Given the description of an element on the screen output the (x, y) to click on. 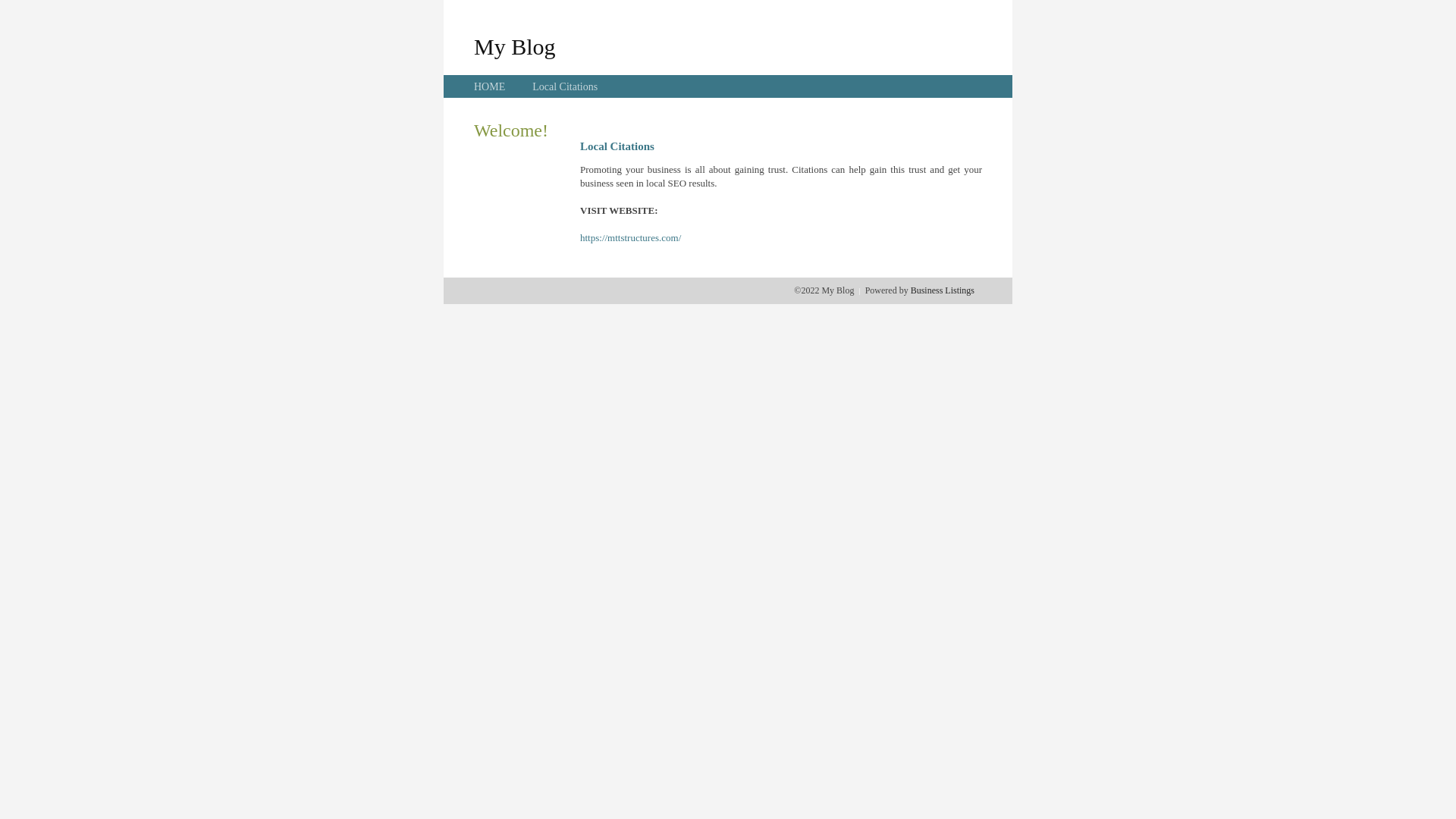
https://mttstructures.com/ Element type: text (630, 237)
Local Citations Element type: text (564, 86)
HOME Element type: text (489, 86)
Business Listings Element type: text (942, 290)
My Blog Element type: text (514, 46)
